Given the description of an element on the screen output the (x, y) to click on. 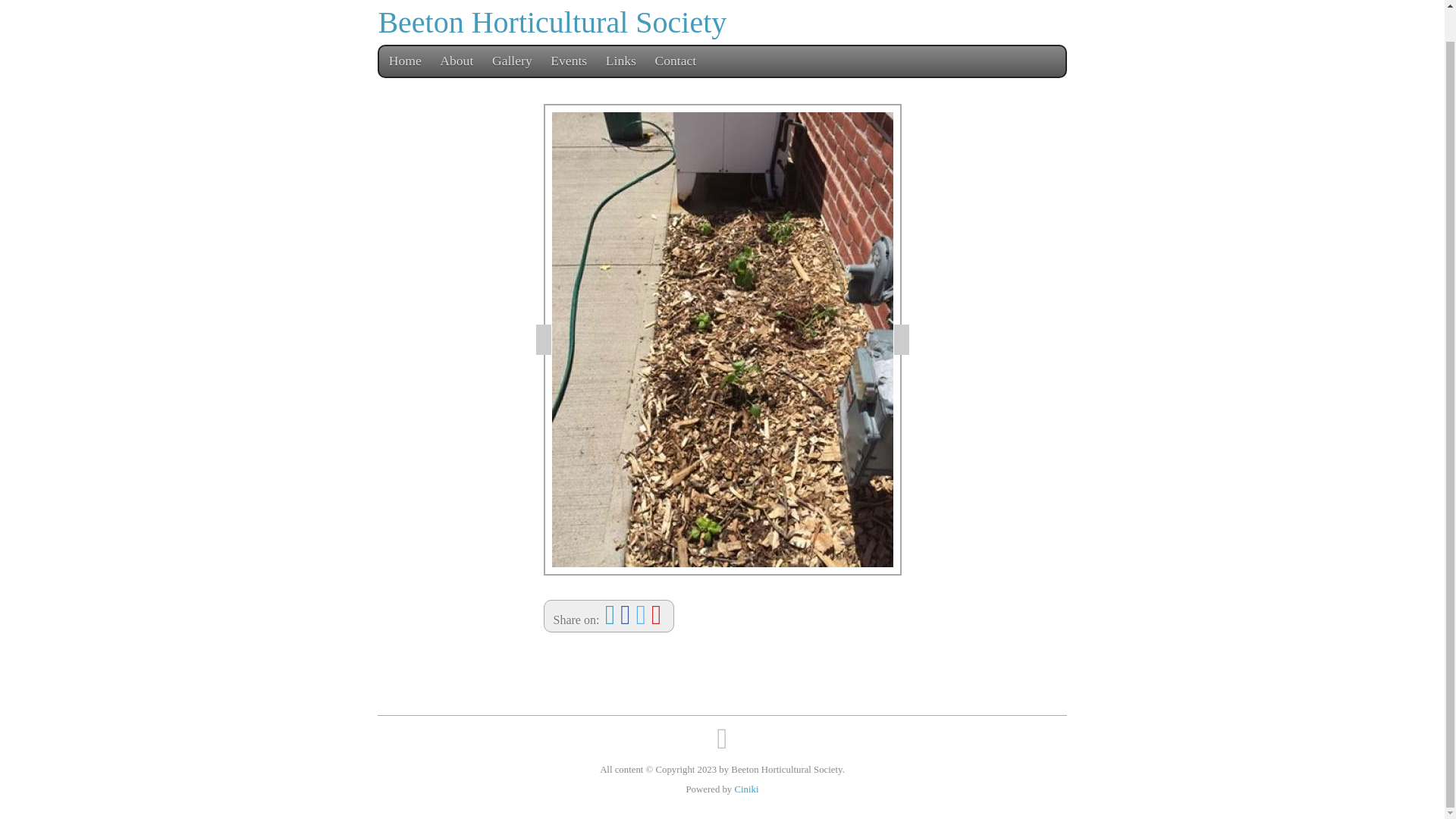
Home Element type: text (405, 92)
Beeton Horticultural Society Element type: text (551, 54)
About Element type: text (456, 92)
Events Element type: text (568, 92)
Contact Element type: text (675, 92)
Gallery Element type: text (512, 92)
Links Element type: text (620, 92)
